Given the description of an element on the screen output the (x, y) to click on. 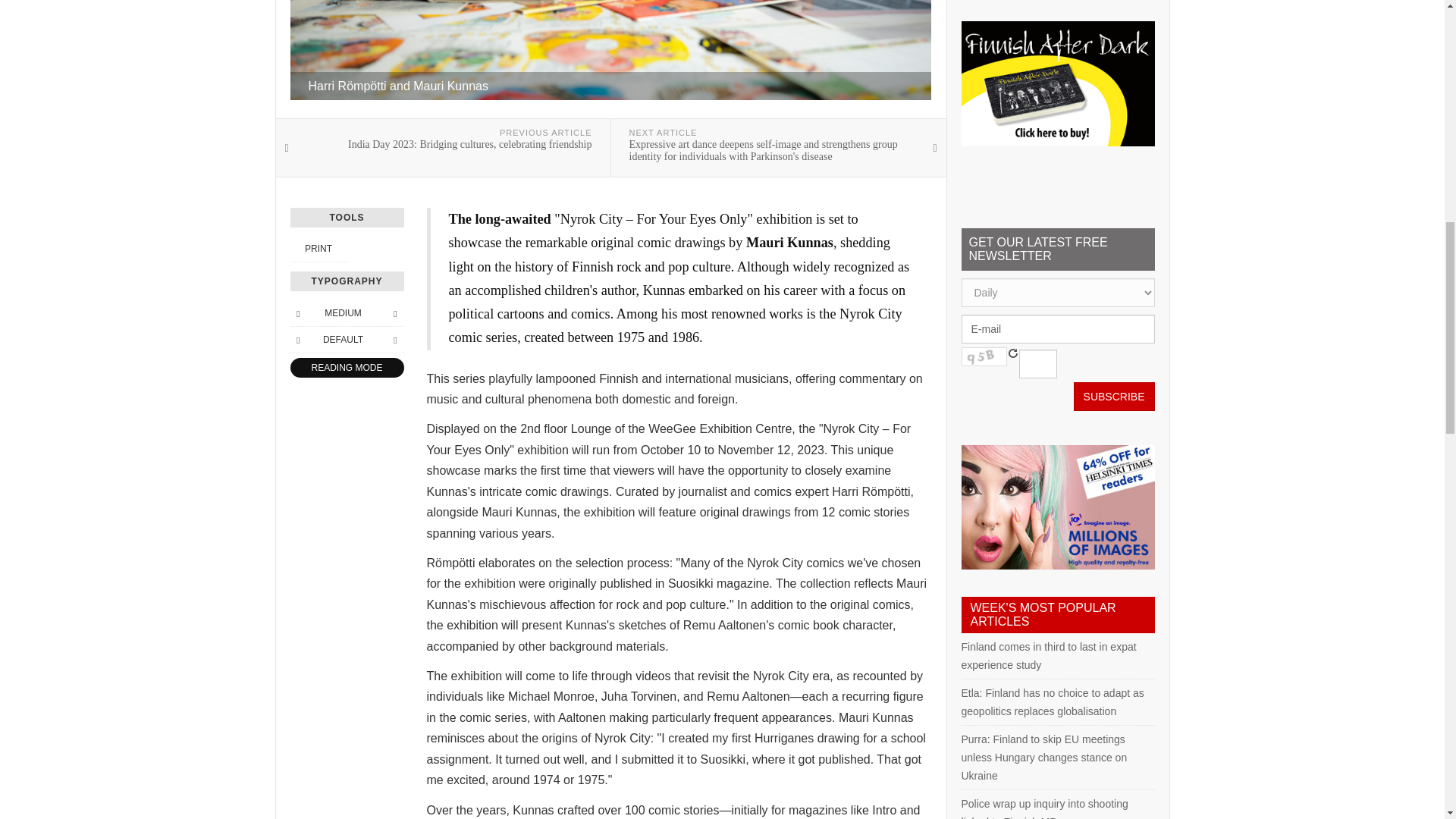
Previous Font Style (297, 339)
Bigger Font (395, 312)
After-dark (1057, 83)
The captcha is invalid, please try again (1038, 363)
The captcha is invalid, please try again (983, 356)
E-mail (1057, 328)
Next Font Style (395, 339)
Smaller Font (297, 312)
Print (317, 248)
Advertisement (1057, 1)
Subscribe (1114, 396)
Reading Mode (346, 367)
E-mail (1057, 328)
